Given the description of an element on the screen output the (x, y) to click on. 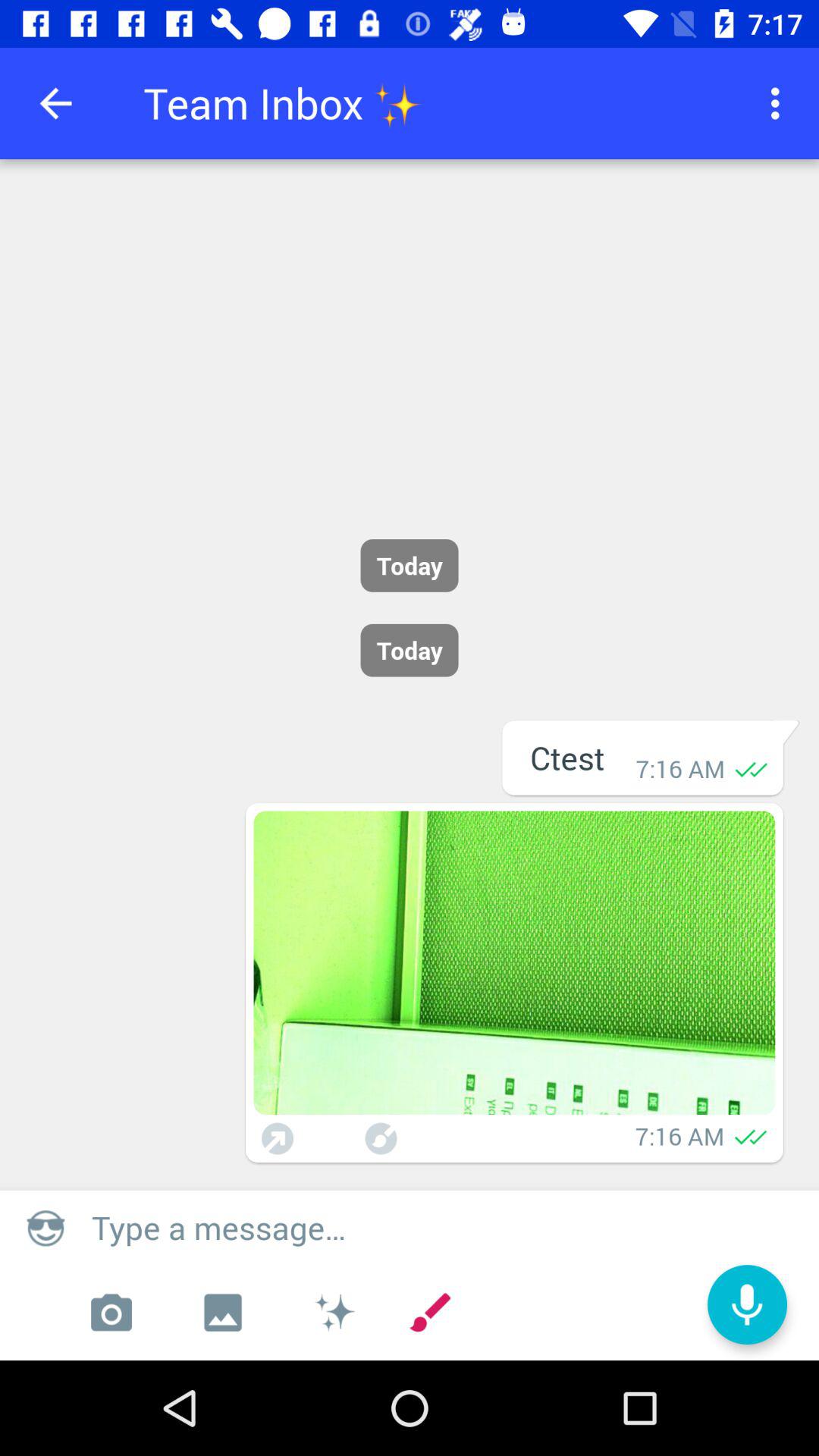
go back (55, 103)
